Given the description of an element on the screen output the (x, y) to click on. 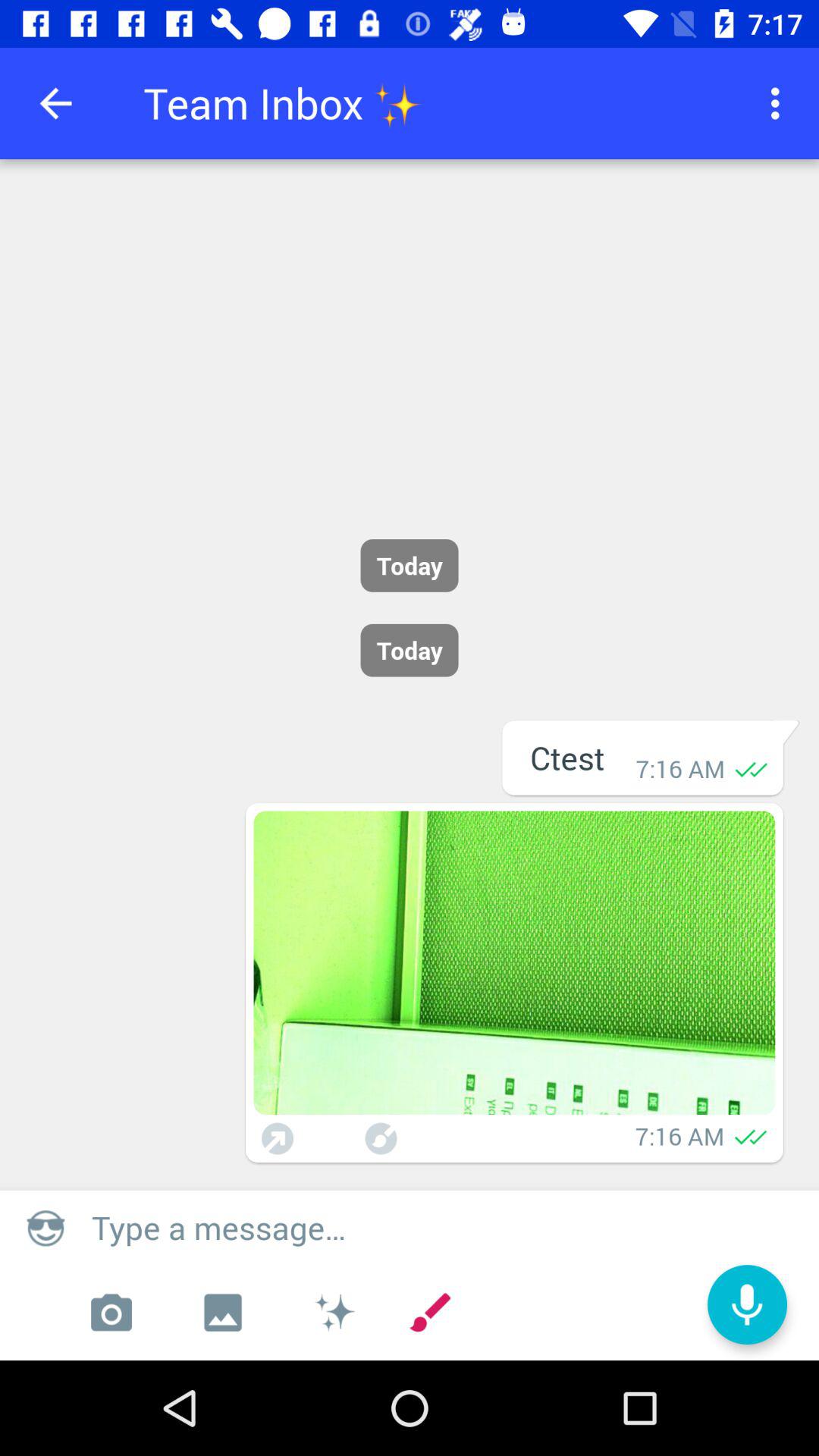
go back (55, 103)
